Given the description of an element on the screen output the (x, y) to click on. 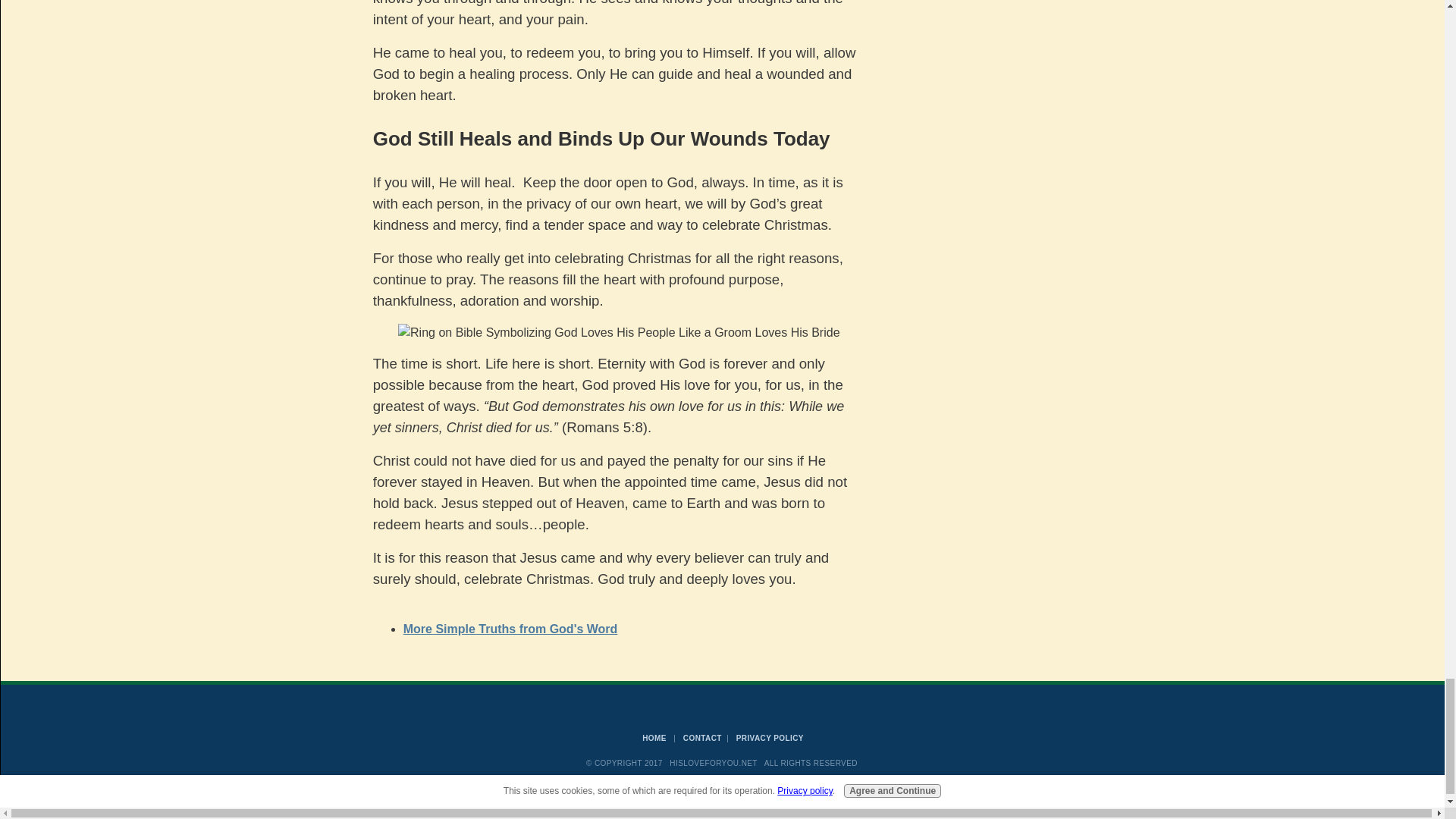
HOME (654, 737)
PRIVACY POLICY (769, 737)
More Simple Truths from God's Word (510, 627)
CONTACT (702, 737)
